Given the description of an element on the screen output the (x, y) to click on. 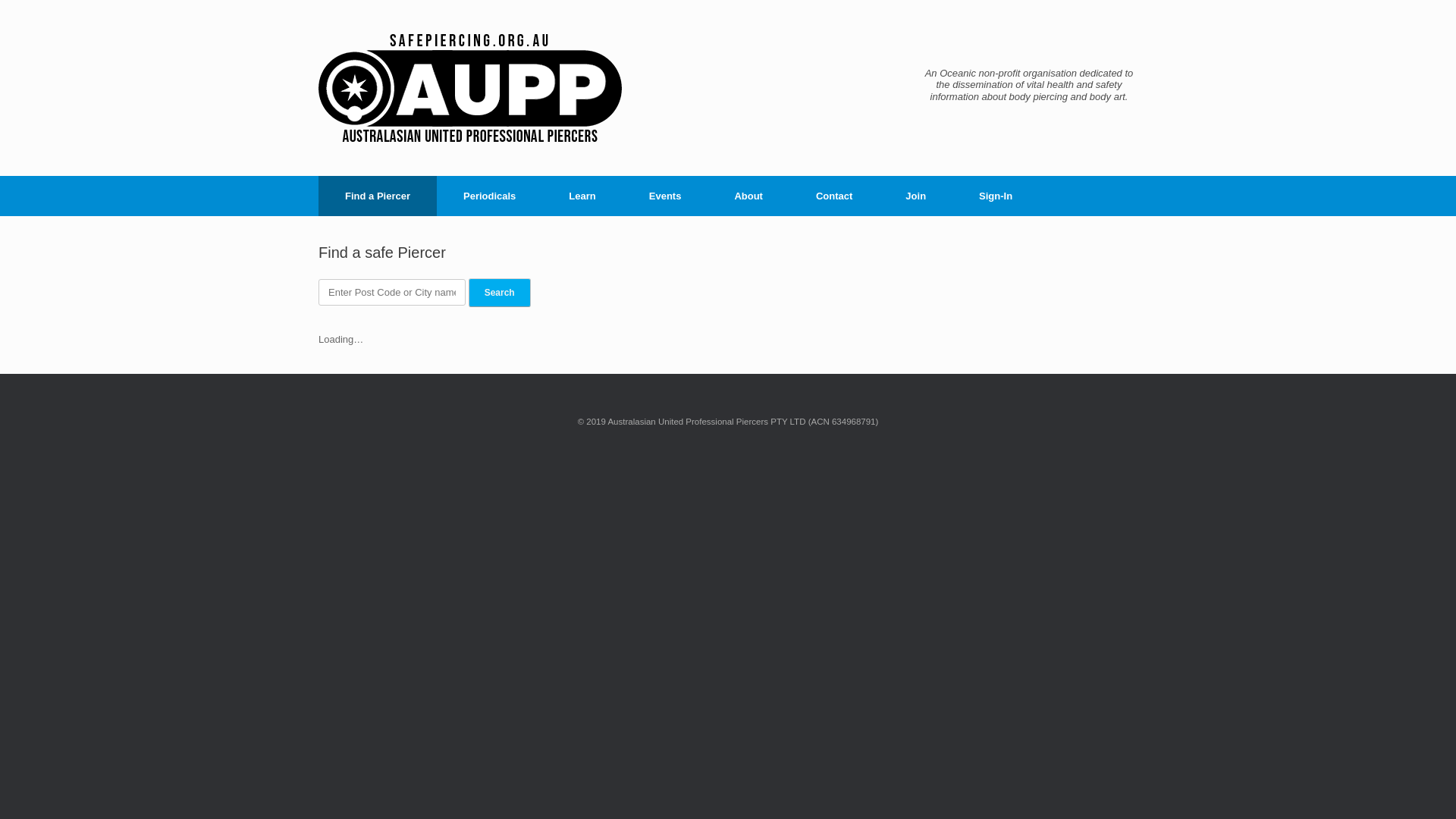
Australasian United Professional Piercers Element type: hover (469, 87)
About Element type: text (748, 195)
Events Element type: text (665, 195)
Find a Piercer Element type: text (377, 195)
Learn Element type: text (581, 195)
Join Element type: text (915, 195)
Sign-In Element type: text (995, 195)
Contact Element type: text (833, 195)
Periodicals Element type: text (489, 195)
